Given the description of an element on the screen output the (x, y) to click on. 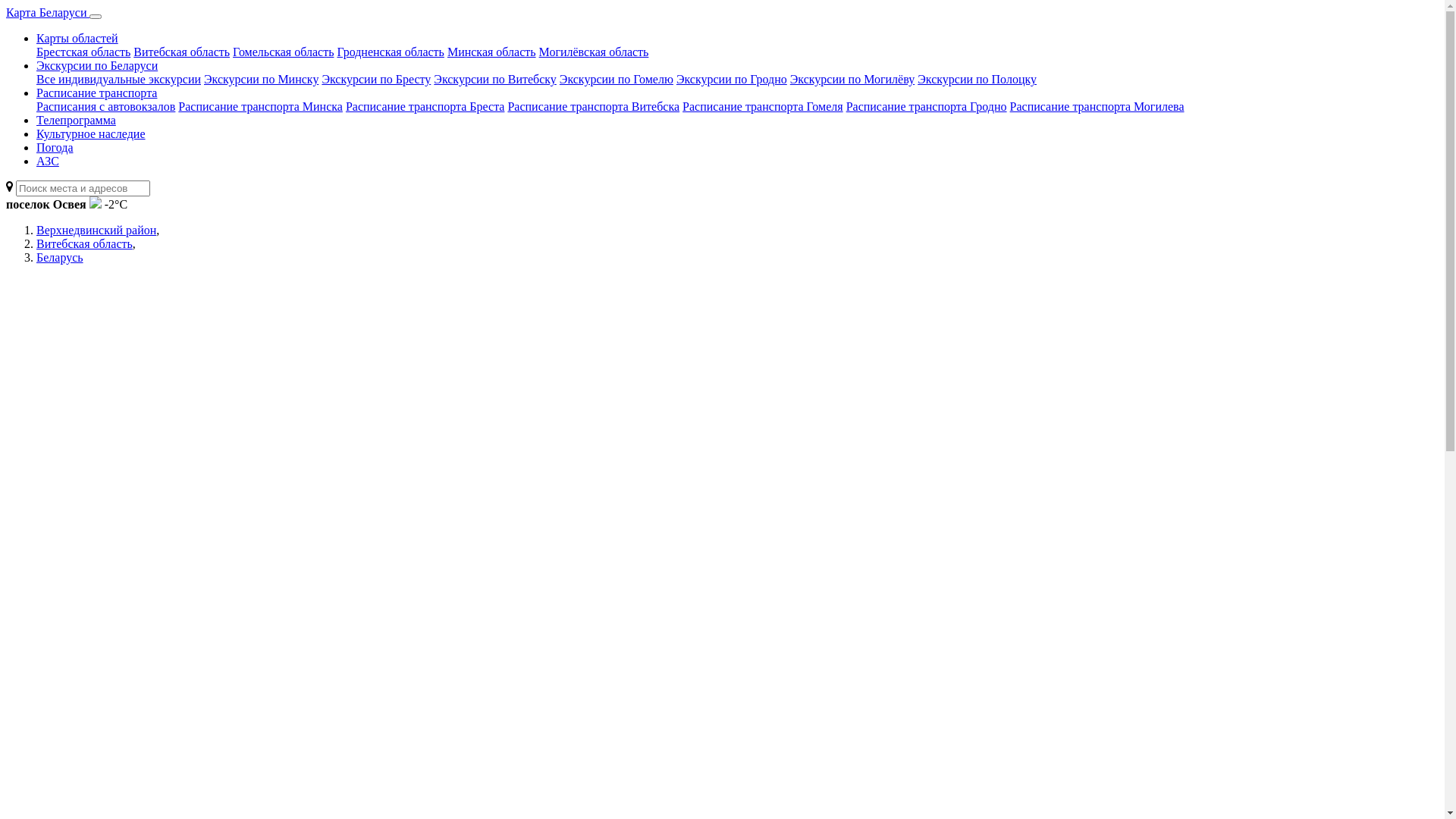
Advertisement Element type: hover (119, 503)
